Given the description of an element on the screen output the (x, y) to click on. 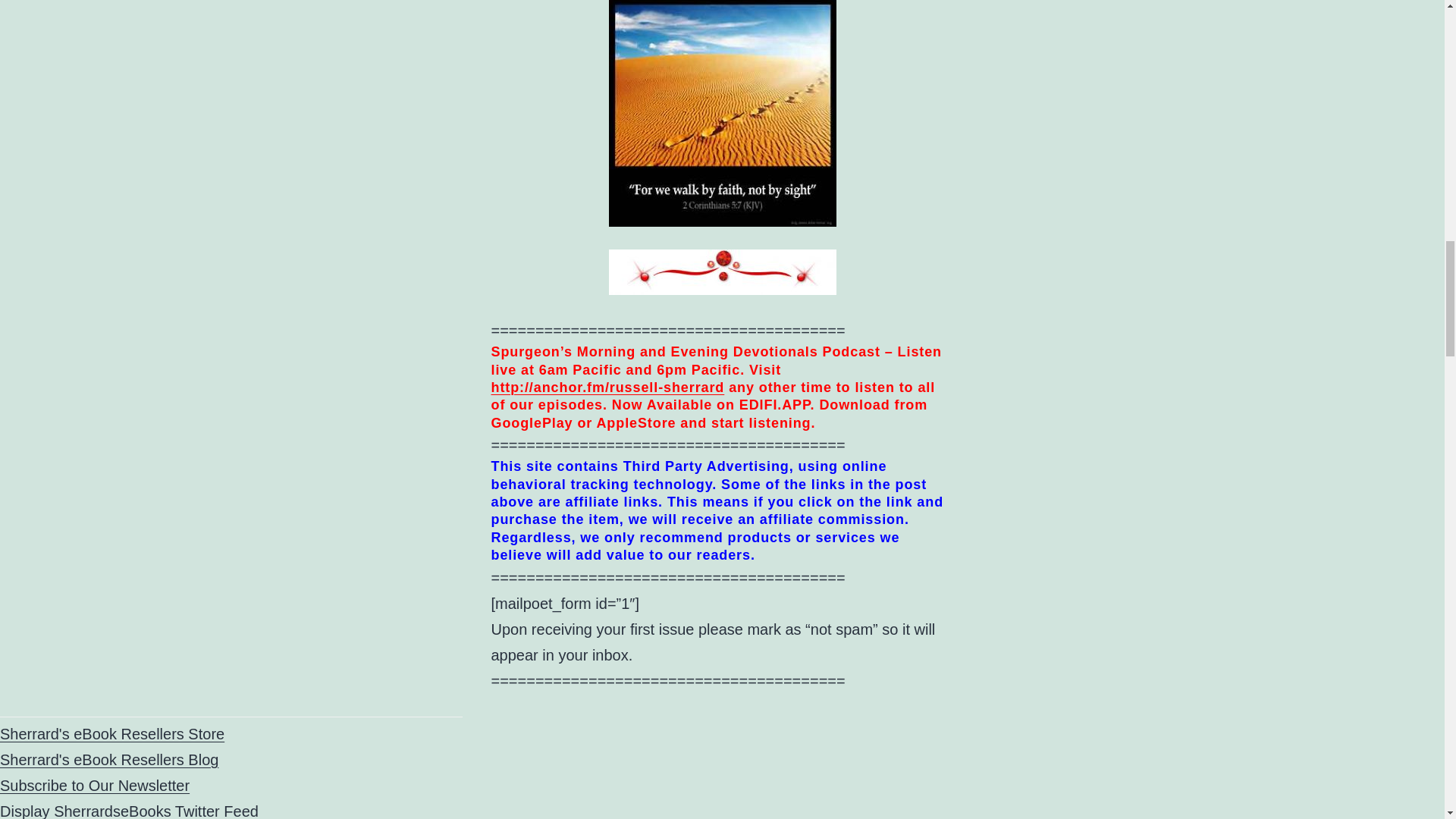
Spurgeon's Morning and Evening Devotionals Podcast (608, 387)
Subscribe to Our Newsletter (94, 785)
Display SherrardseBooks Twitter Feed (129, 811)
Sherrard's eBook Resellers Store (112, 733)
Sherrard's eBook Resellers Blog (109, 759)
